Given the description of an element on the screen output the (x, y) to click on. 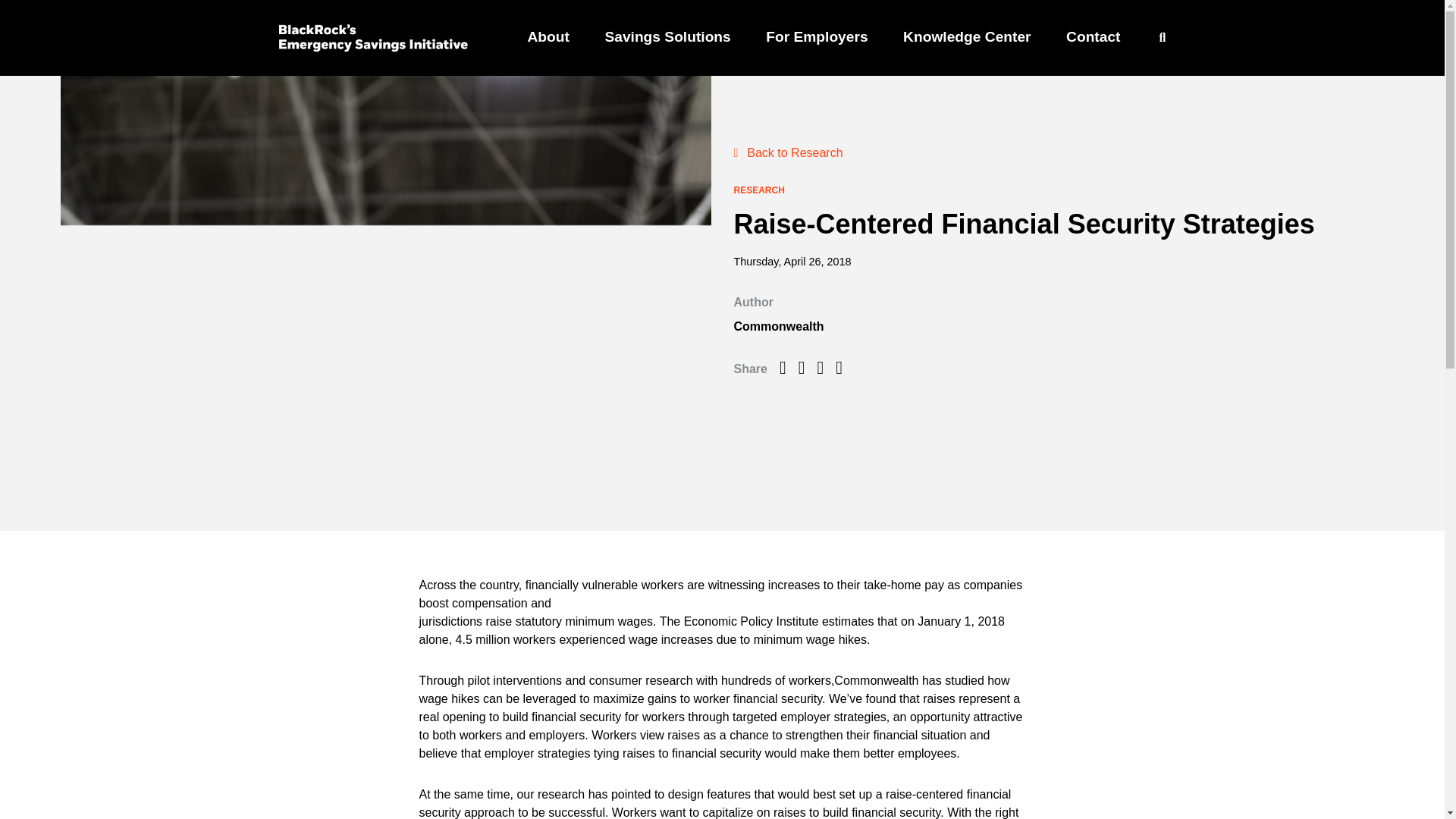
Savings Solutions (667, 37)
Back to Research (788, 152)
Contact (1092, 37)
About (548, 37)
For Employers (816, 37)
Knowledge Center (966, 37)
